Given the description of an element on the screen output the (x, y) to click on. 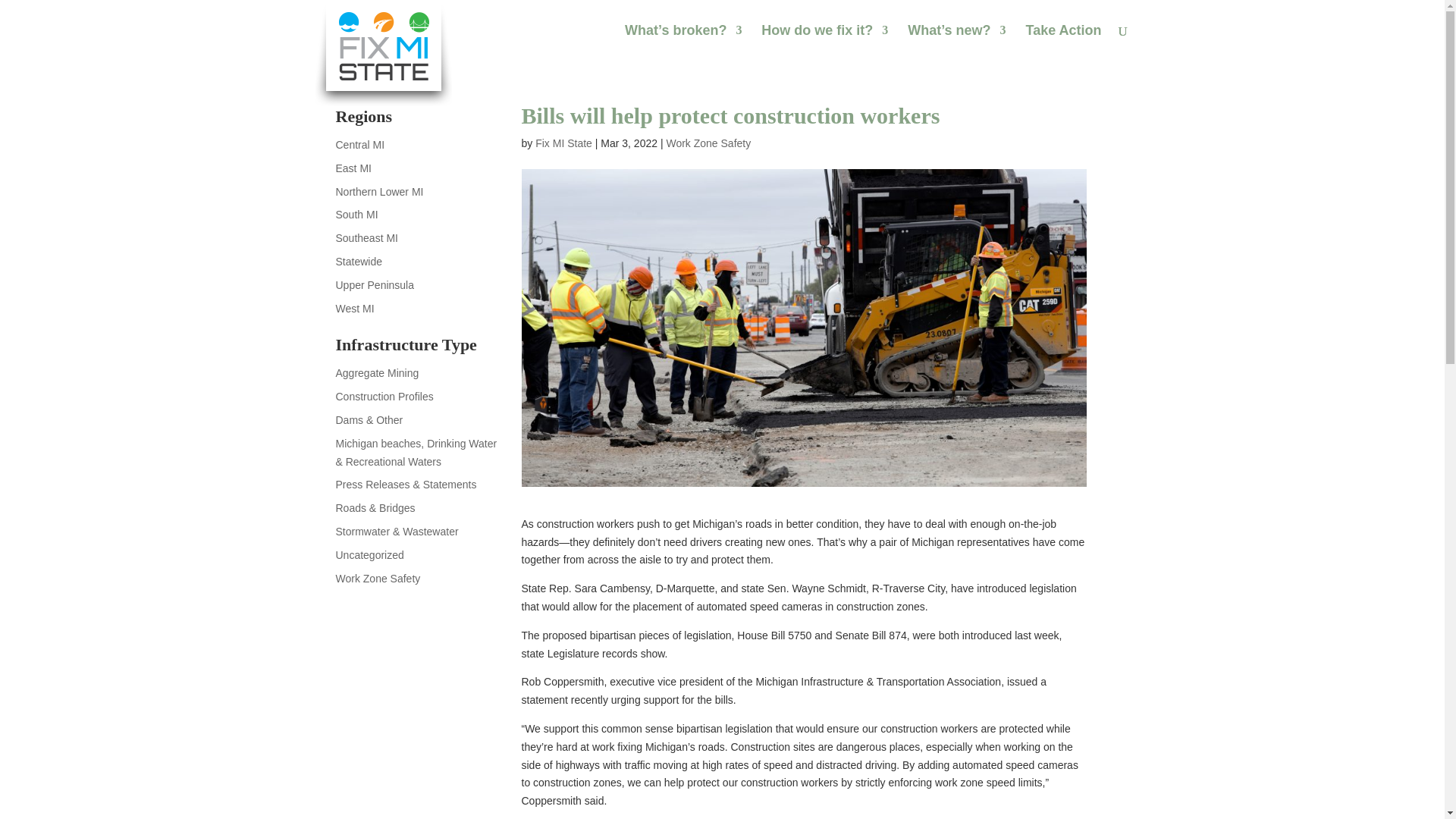
West MI (354, 308)
View all posts in Construction Profiles (383, 396)
Take Action (1062, 42)
South MI (355, 214)
View all posts in Statewide (357, 261)
Statewide (357, 261)
View all posts in Upper Peninsula (373, 285)
Work Zone Safety (708, 143)
East MI (352, 168)
View all posts in West MI (354, 308)
View all posts in Northern Lower MI (378, 191)
View all posts in Central MI (359, 144)
Northern Lower MI (378, 191)
Fix MI State (563, 143)
Upper Peninsula (373, 285)
